Given the description of an element on the screen output the (x, y) to click on. 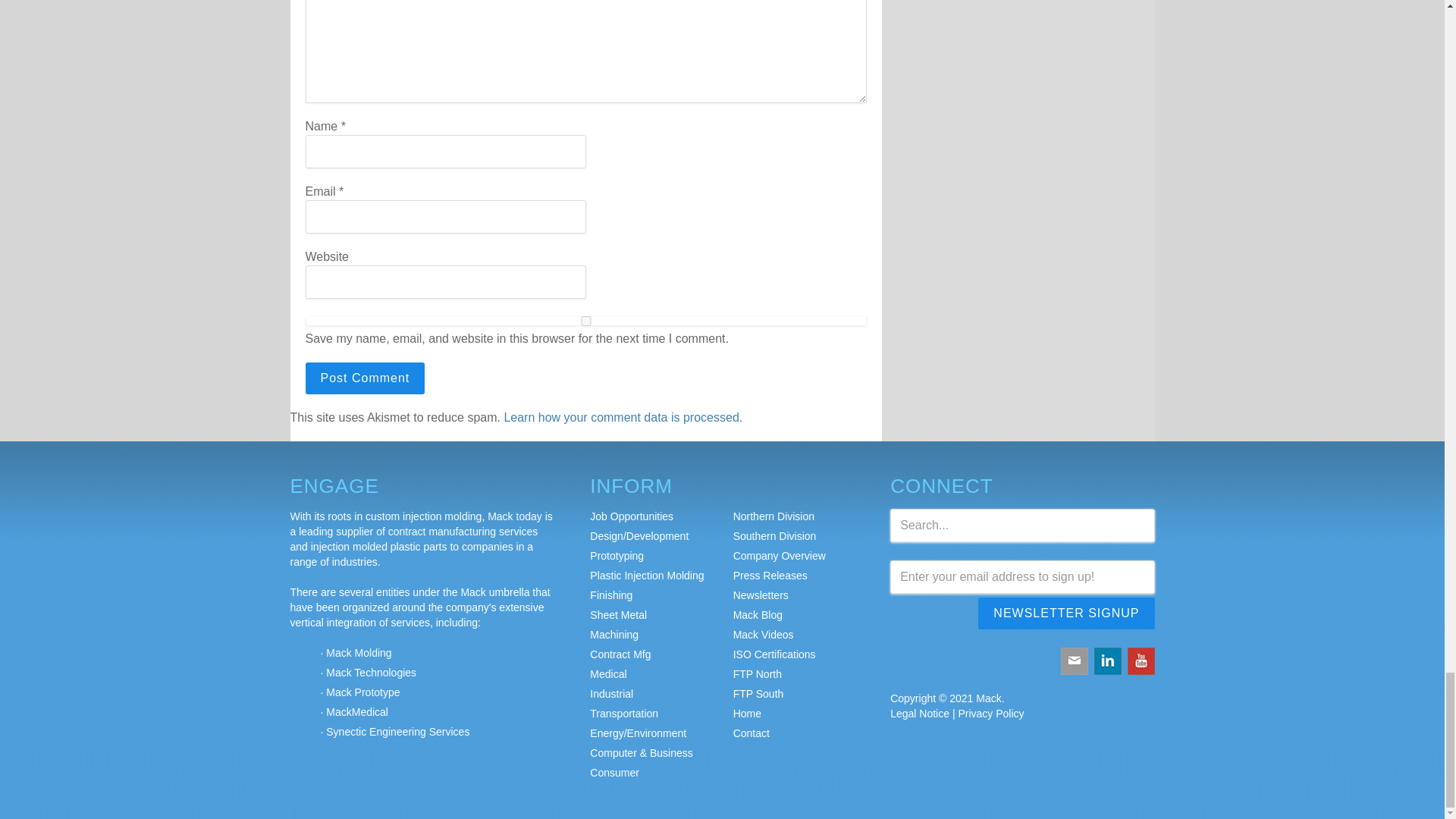
yes (585, 320)
NEWSLETTER SIGNUP (1066, 613)
Post Comment (364, 377)
Enter your email address to sign up! (1021, 576)
